Given the description of an element on the screen output the (x, y) to click on. 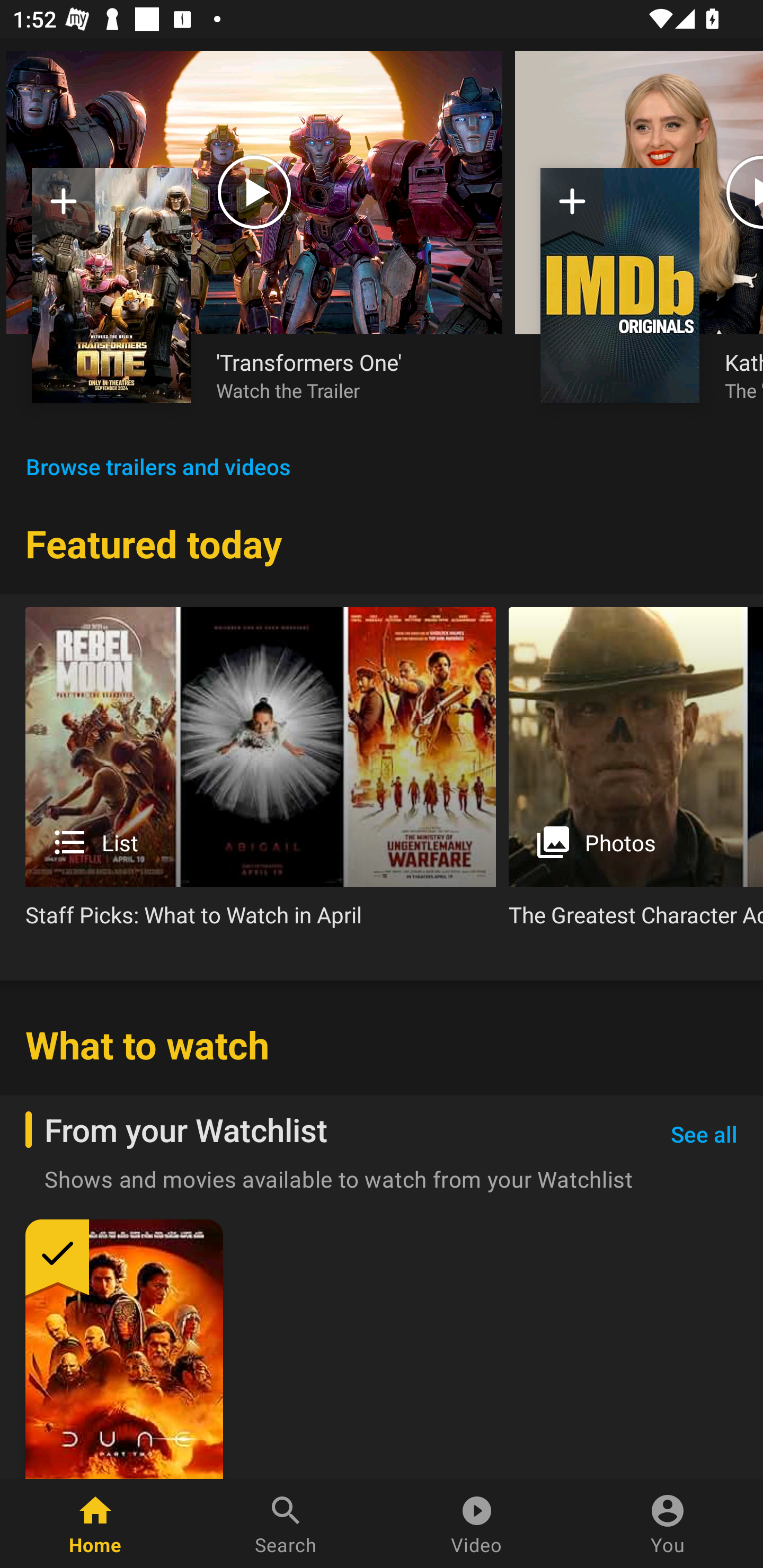
Not in watchlist (111, 284)
Not in watchlist (63, 207)
Not in watchlist (619, 284)
'Transformers One' Watch the Trailer (345, 374)
List Staff Picks: What to Watch in April (260, 774)
Photos The Greatest Character Actors of All Time (635, 774)
See all See all From your Watchlist (703, 1134)
Search (285, 1523)
Video (476, 1523)
You (667, 1523)
